Given the description of an element on the screen output the (x, y) to click on. 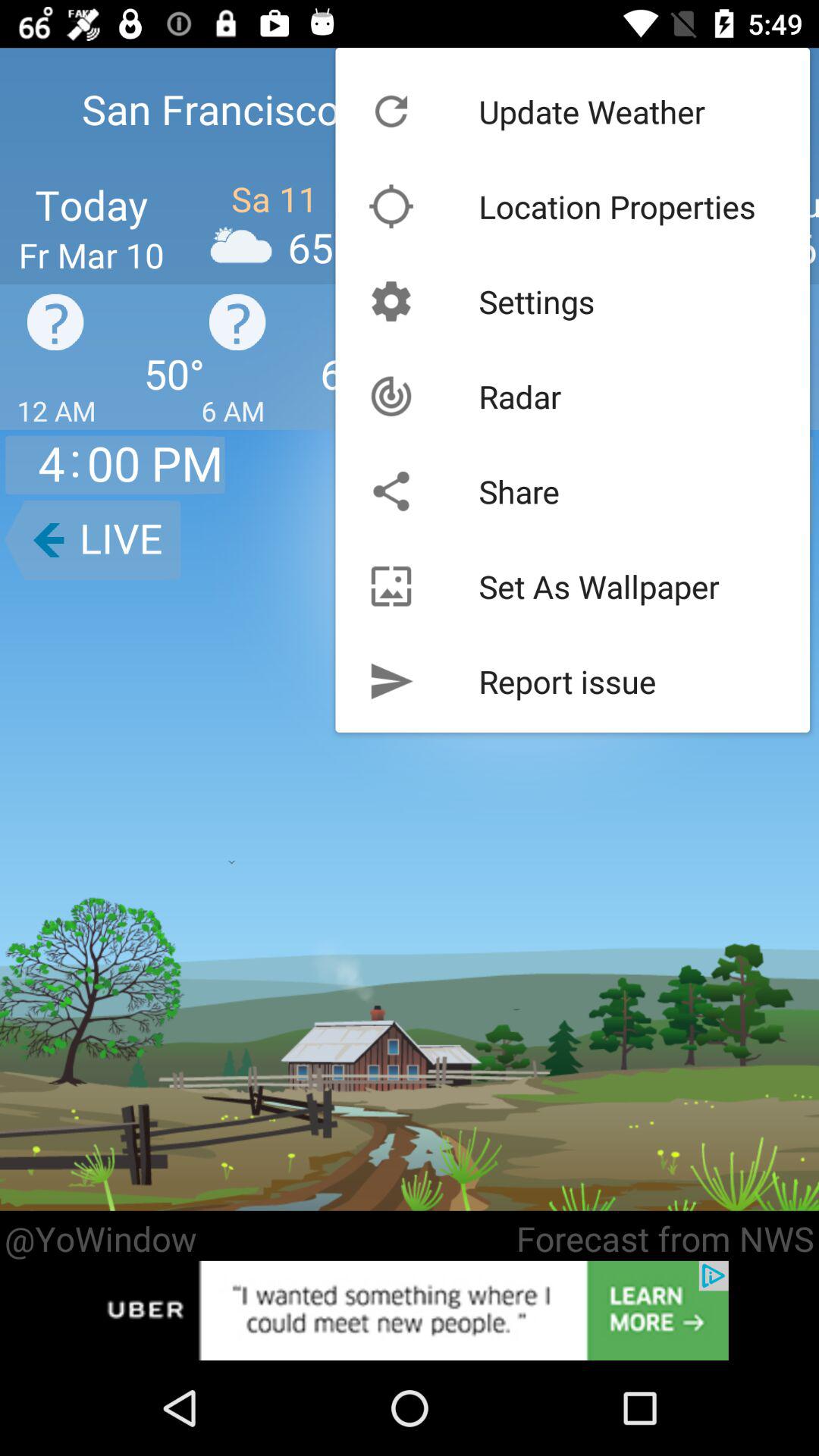
jump until the share icon (518, 491)
